Given the description of an element on the screen output the (x, y) to click on. 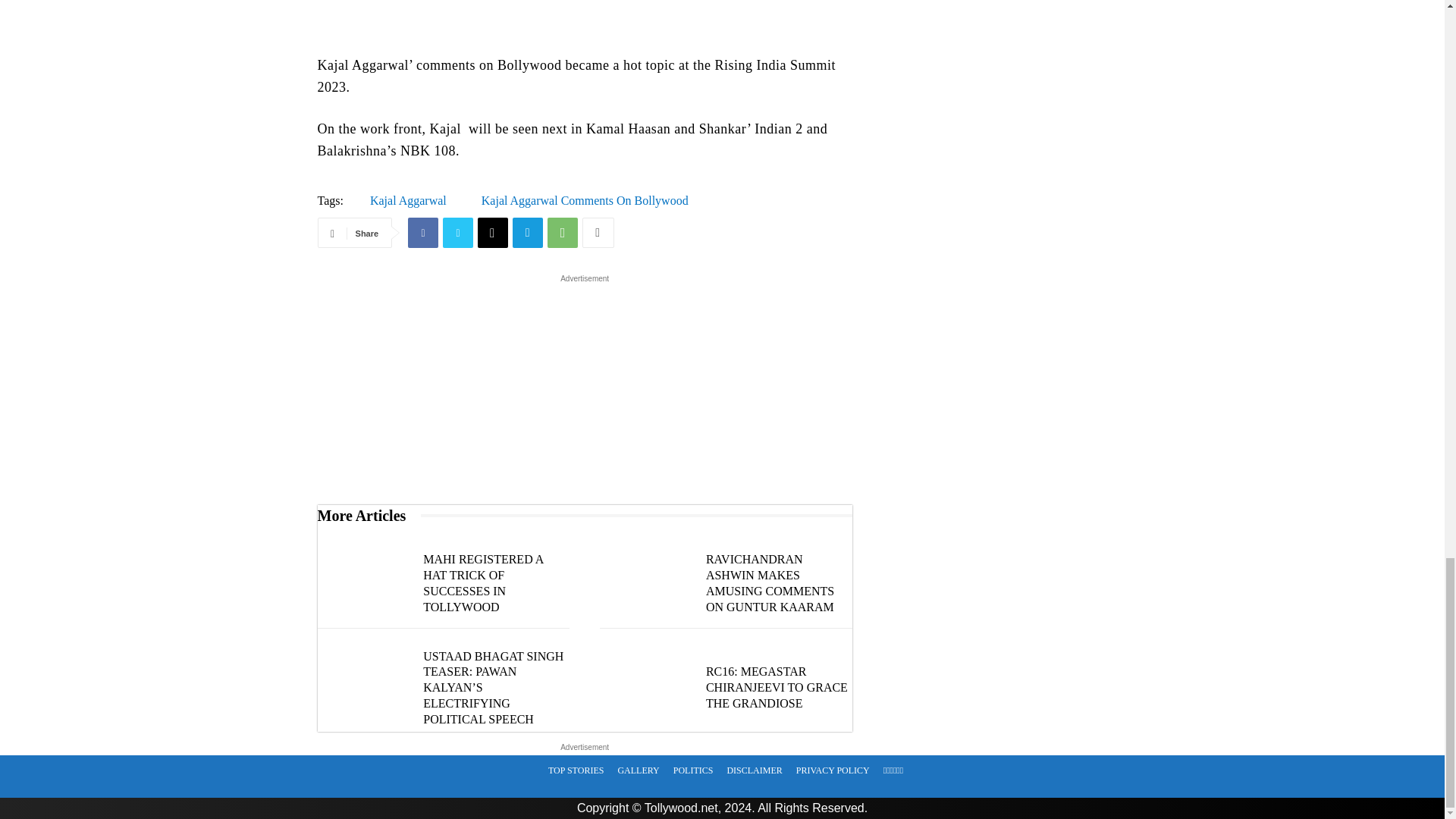
Facebook (422, 232)
